Given the description of an element on the screen output the (x, y) to click on. 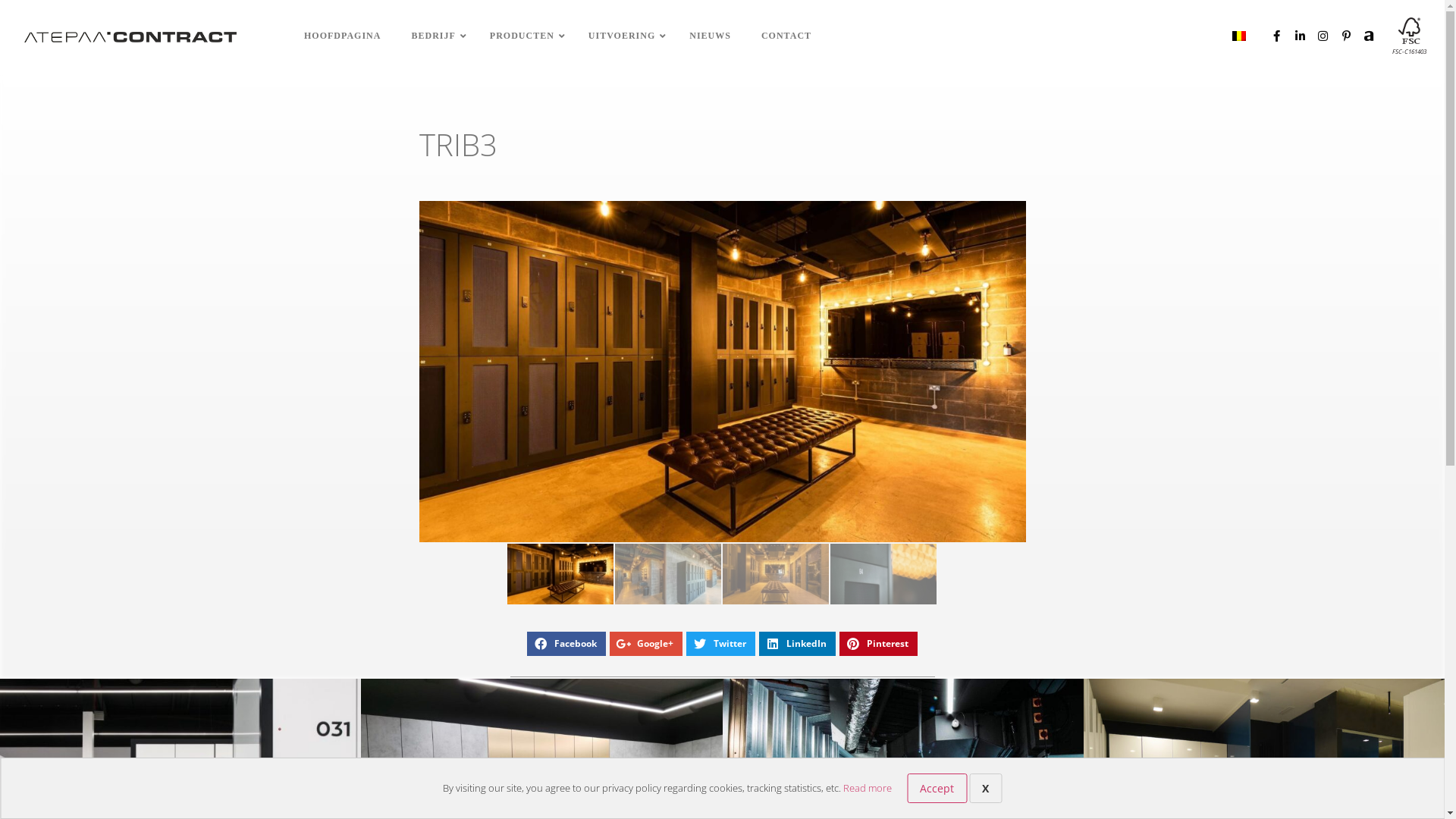
X Element type: text (985, 788)
HOOFDPAGINA Element type: text (341, 35)
NIEUWS Element type: text (710, 35)
Read more Element type: text (867, 787)
UITVOERING Element type: text (623, 35)
CONTACT Element type: text (786, 35)
Accept Element type: text (936, 788)
atepaa lockers and furniture design gym interior Element type: hover (721, 371)
